Given the description of an element on the screen output the (x, y) to click on. 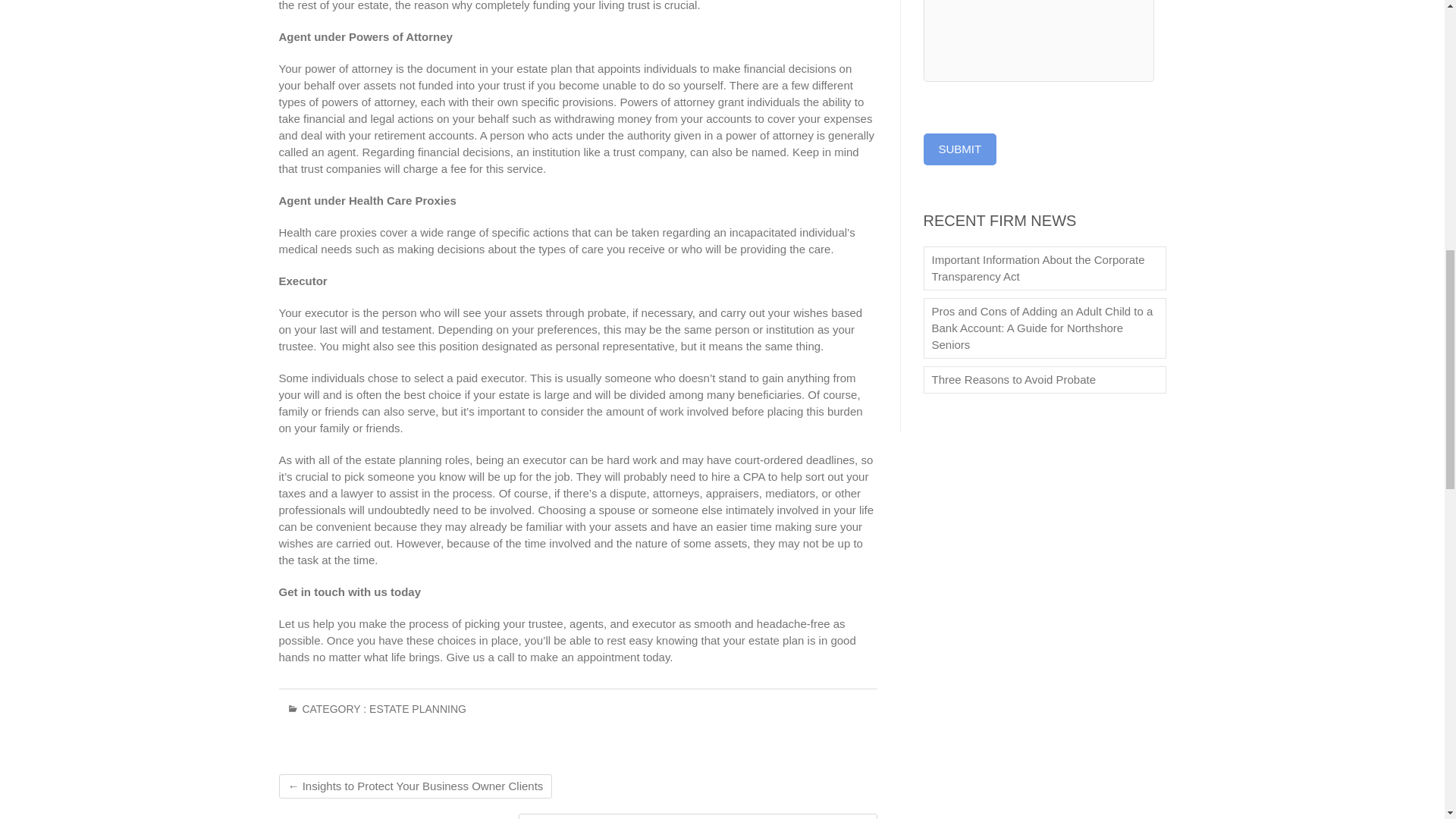
Submit (960, 149)
ESTATE PLANNING (417, 714)
Submit (960, 149)
